Given the description of an element on the screen output the (x, y) to click on. 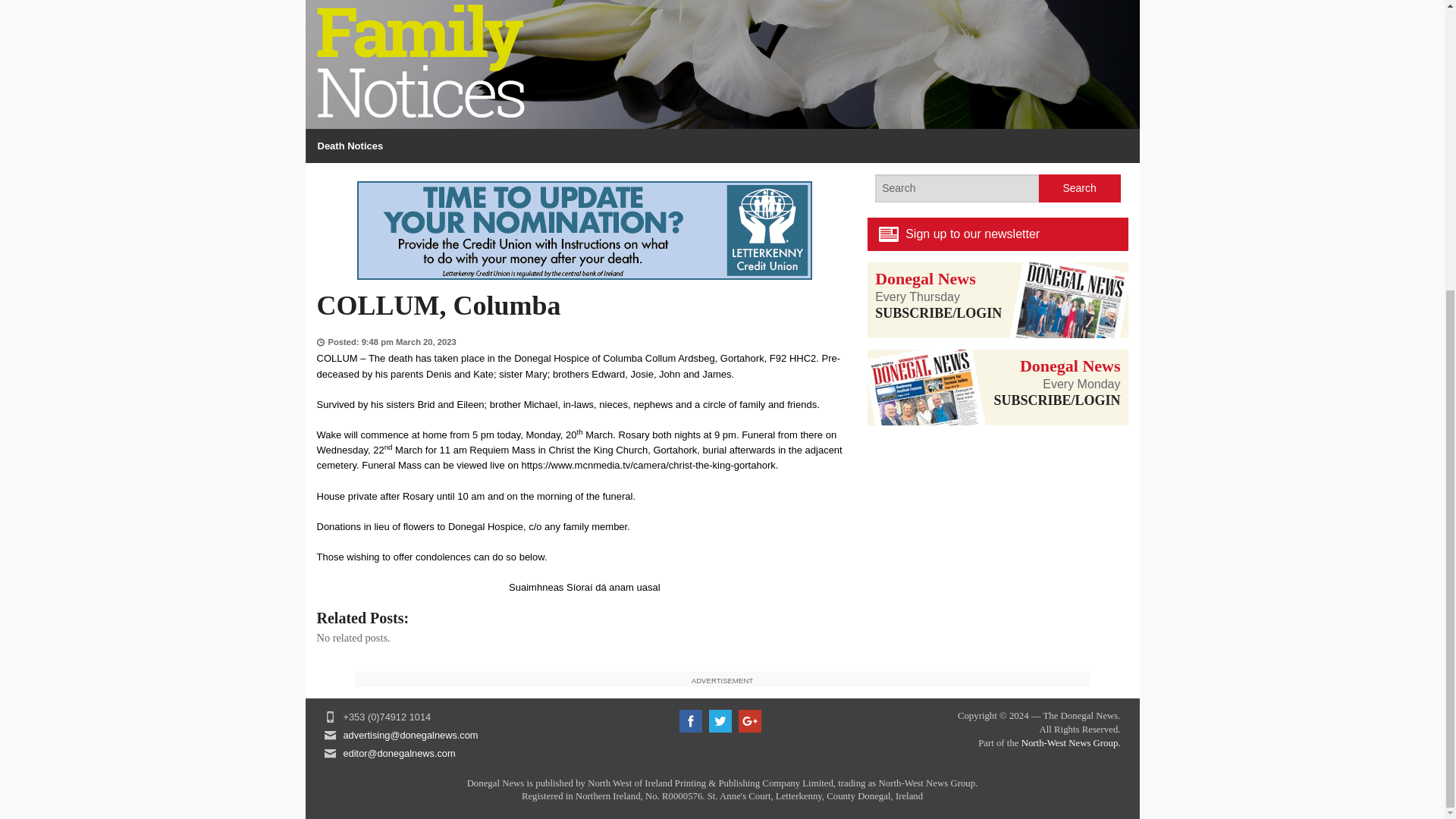
Search (1080, 188)
